Given the description of an element on the screen output the (x, y) to click on. 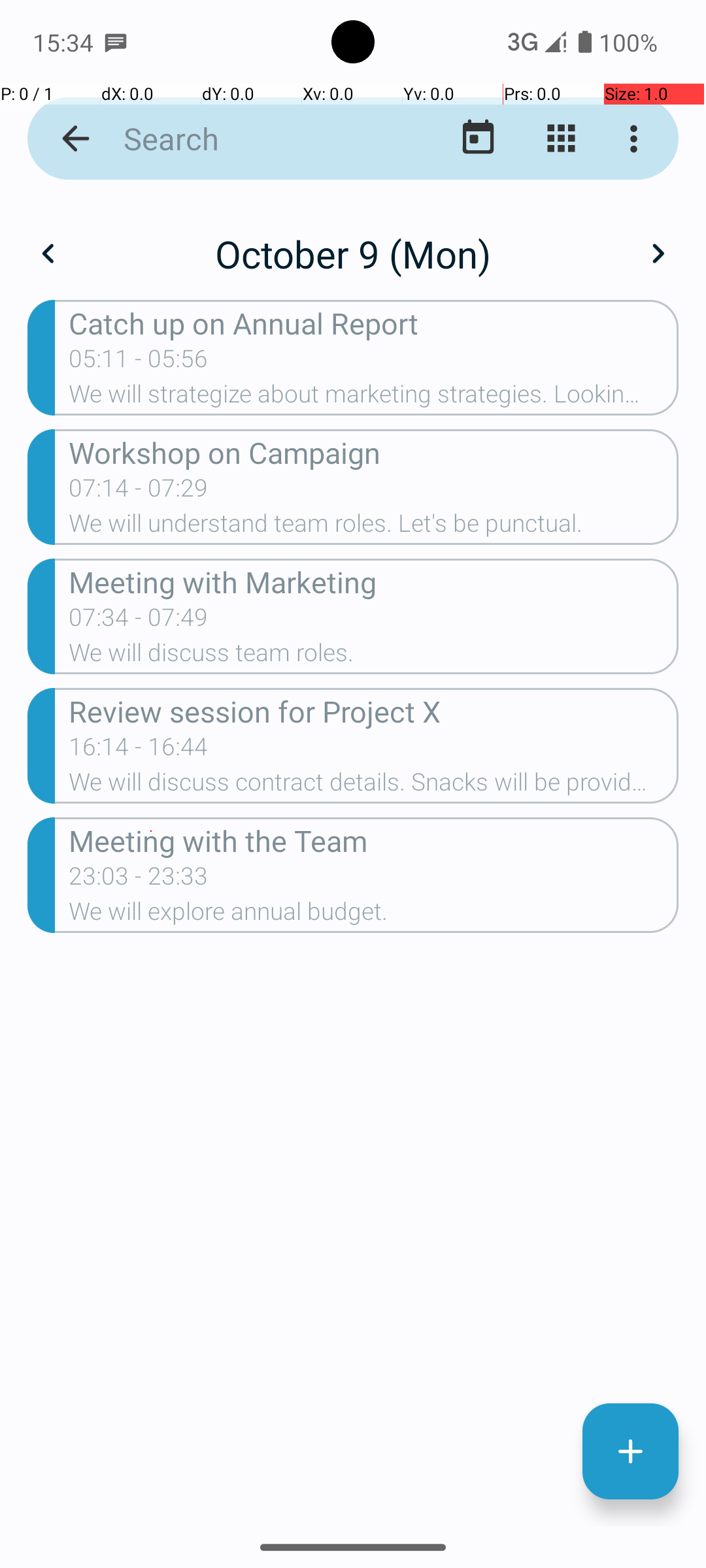
October 9 (Mon) Element type: android.widget.TextView (352, 253)
05:11 - 05:56 Element type: android.widget.TextView (137, 362)
We will strategize about marketing strategies. Looking forward to productive discussions. Element type: android.widget.TextView (373, 397)
Workshop on Campaign Element type: android.widget.TextView (373, 451)
07:14 - 07:29 Element type: android.widget.TextView (137, 491)
We will understand team roles. Let's be punctual. Element type: android.widget.TextView (373, 526)
Meeting with Marketing Element type: android.widget.TextView (373, 580)
07:34 - 07:49 Element type: android.widget.TextView (137, 620)
We will discuss team roles. Element type: android.widget.TextView (373, 656)
Review session for Project X Element type: android.widget.TextView (373, 710)
16:14 - 16:44 Element type: android.widget.TextView (137, 750)
We will discuss contract details. Snacks will be provided. Element type: android.widget.TextView (373, 785)
Meeting with the Team Element type: android.widget.TextView (373, 839)
23:03 - 23:33 Element type: android.widget.TextView (137, 879)
We will explore annual budget. Element type: android.widget.TextView (373, 914)
